Given the description of an element on the screen output the (x, y) to click on. 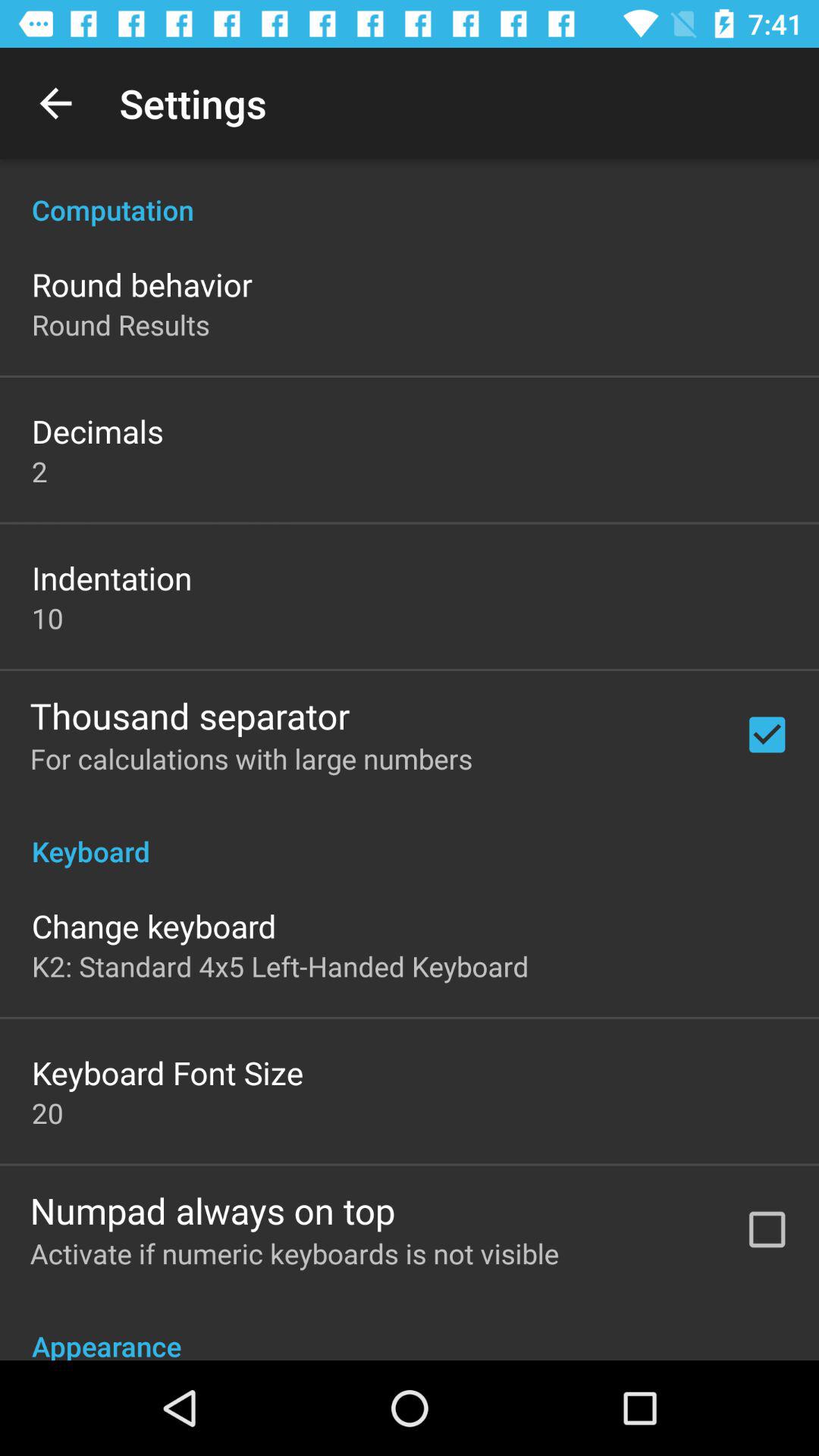
open the numpad always on (212, 1210)
